Given the description of an element on the screen output the (x, y) to click on. 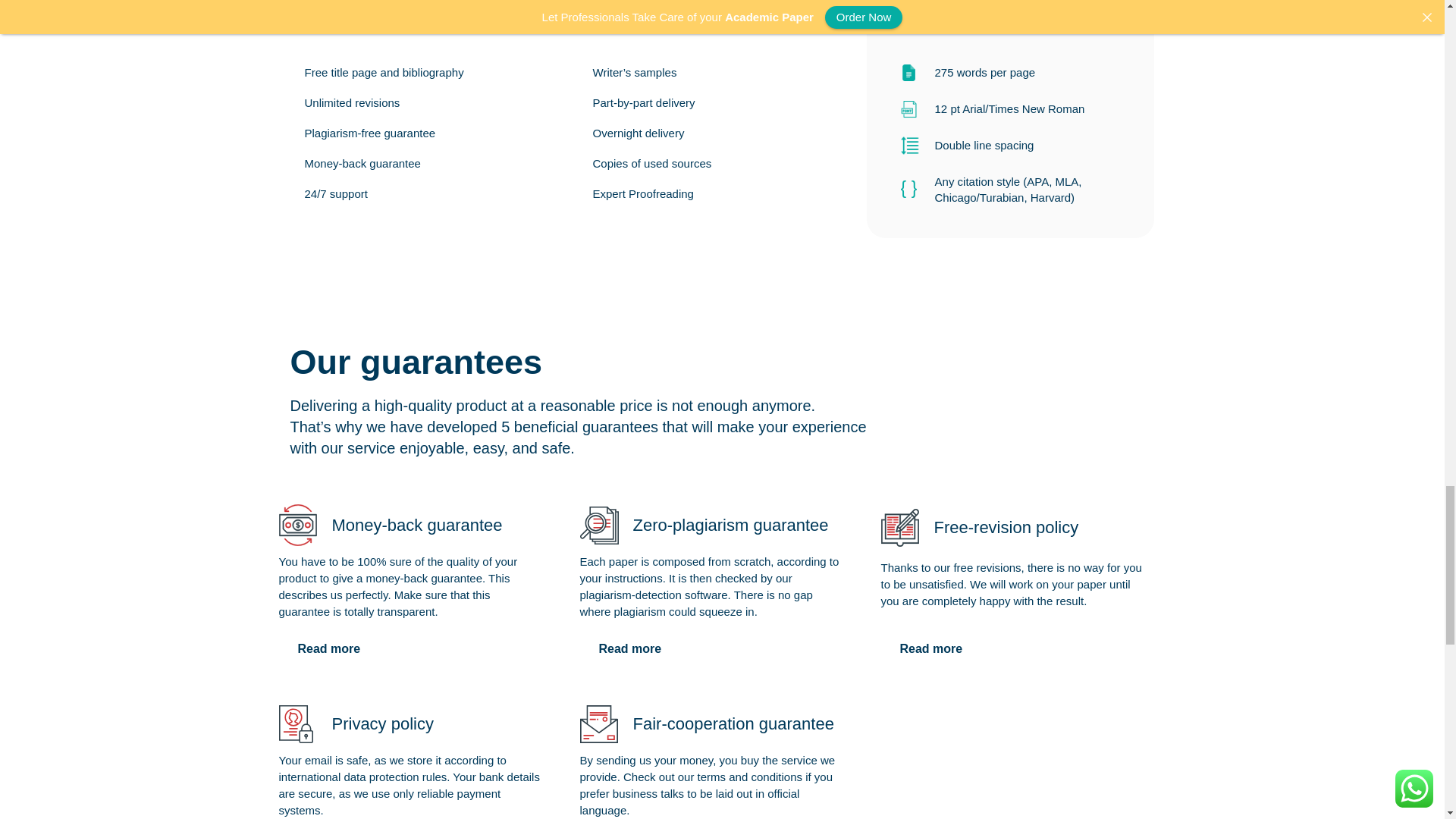
Read more (930, 649)
Read more (329, 649)
Read more (629, 649)
